Given the description of an element on the screen output the (x, y) to click on. 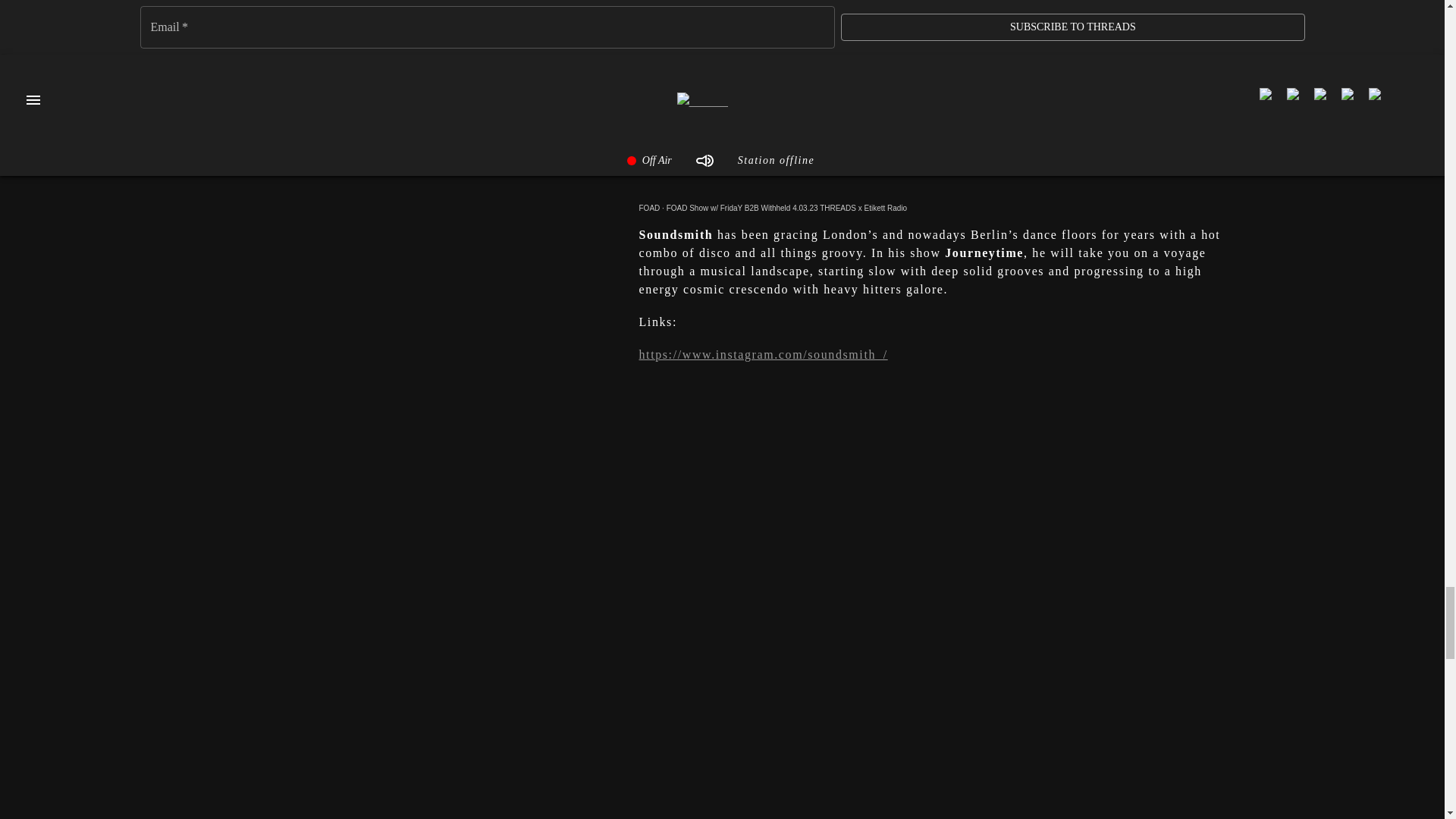
FOAD (649, 207)
FOAD (649, 207)
FOAD (929, 27)
